Given the description of an element on the screen output the (x, y) to click on. 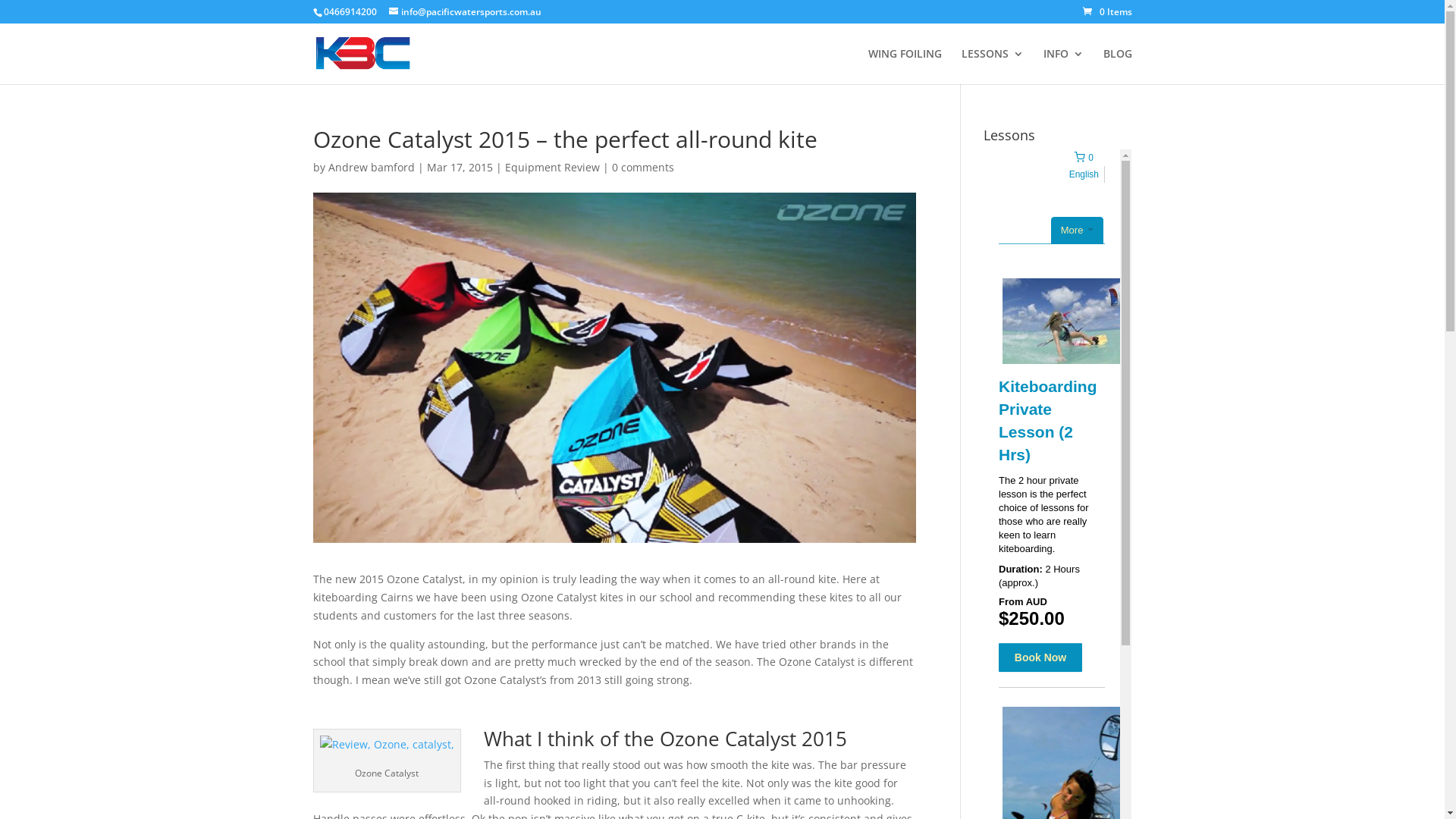
info@pacificwatersports.com.au Element type: text (464, 11)
BLOG Element type: text (1116, 66)
Andrew bamford Element type: text (370, 167)
INFO Element type: text (1063, 66)
0 comments Element type: text (642, 167)
Equipment Review Element type: text (552, 167)
WING FOILING Element type: text (904, 66)
LESSONS Element type: text (992, 66)
0 Items Element type: text (1107, 11)
